Given the description of an element on the screen output the (x, y) to click on. 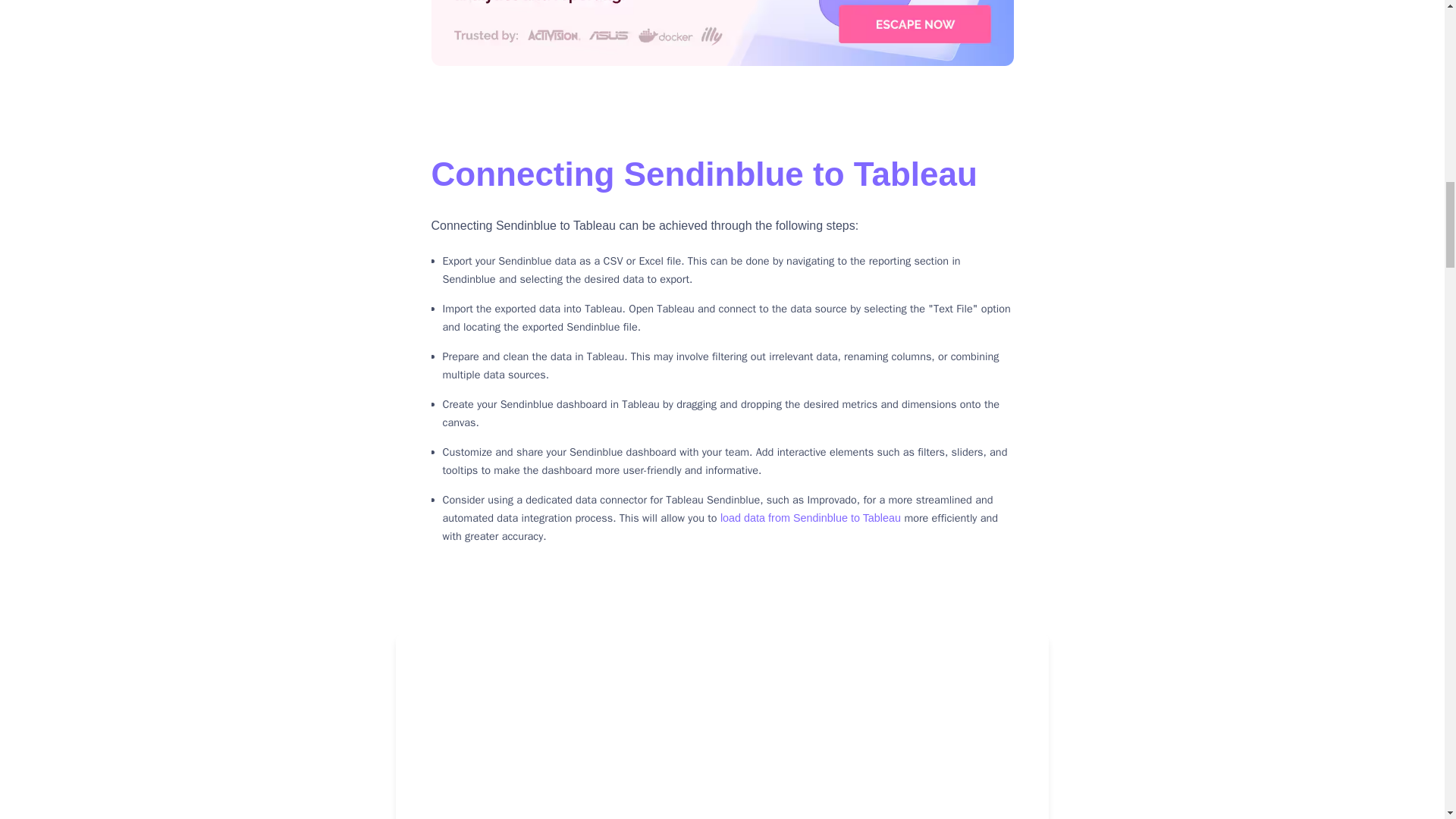
Form 0 (881, 740)
